Given the description of an element on the screen output the (x, y) to click on. 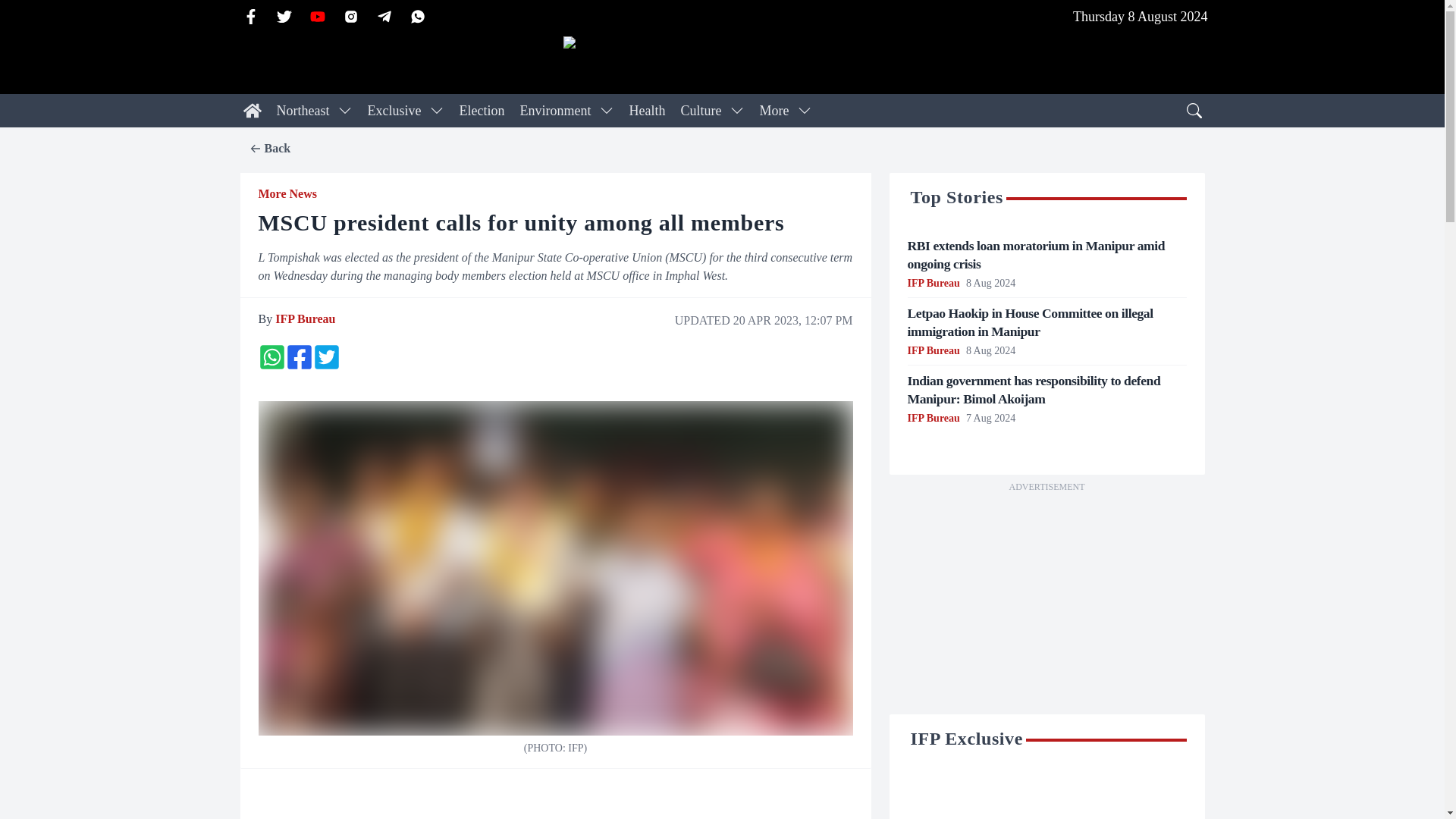
Election (481, 110)
Culture (700, 110)
Environment (554, 110)
Back (268, 148)
More (773, 110)
Health (647, 110)
Northeast (301, 110)
Advertisement (1046, 602)
Exclusive (393, 110)
